Given the description of an element on the screen output the (x, y) to click on. 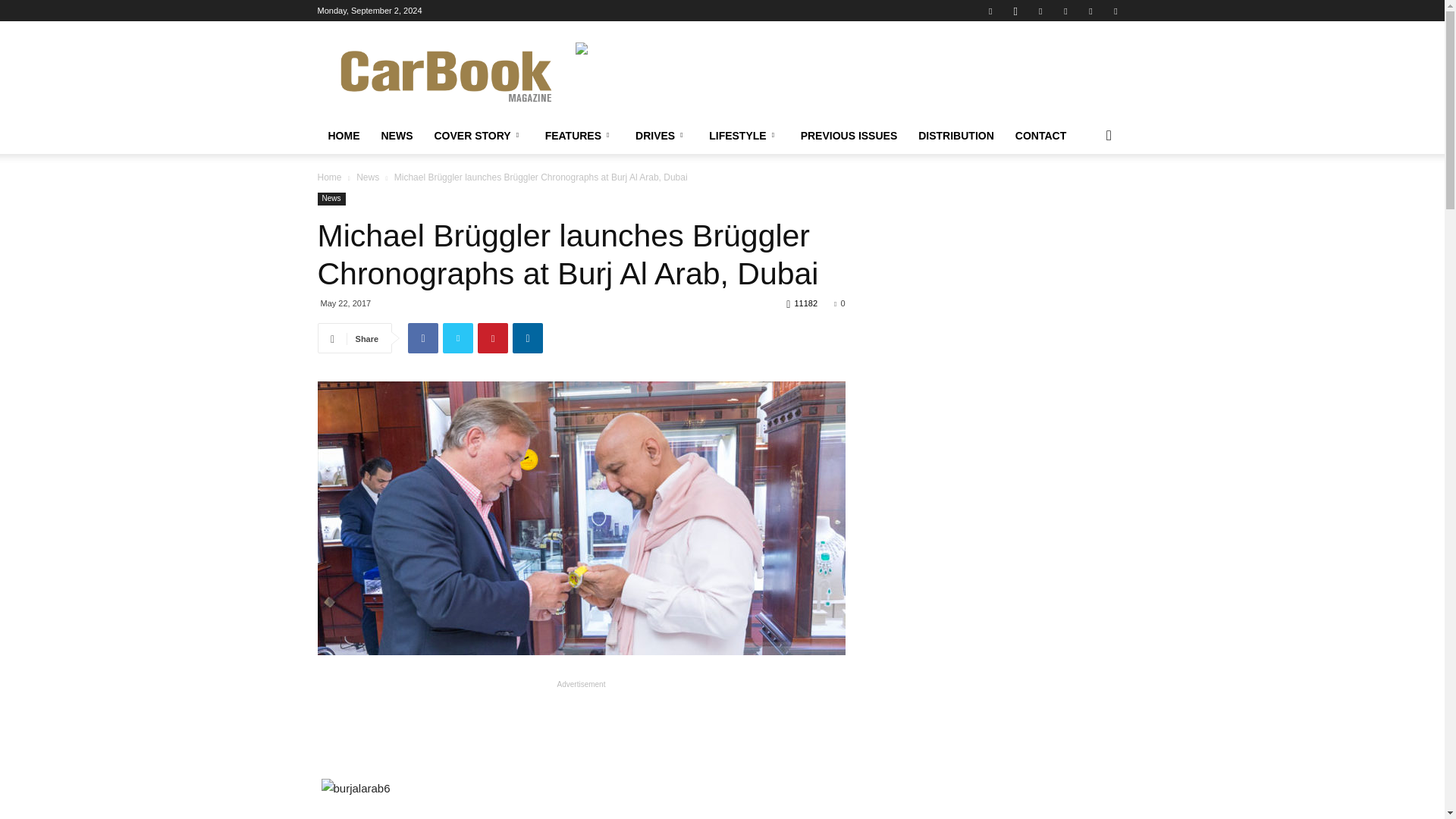
COVER STORY (478, 135)
HOME (343, 135)
Facebook (989, 10)
Youtube (1114, 10)
Twitter (1090, 10)
Instagram (1015, 10)
Linkedin (1040, 10)
NEWS (396, 135)
Pinterest (1065, 10)
